Given the description of an element on the screen output the (x, y) to click on. 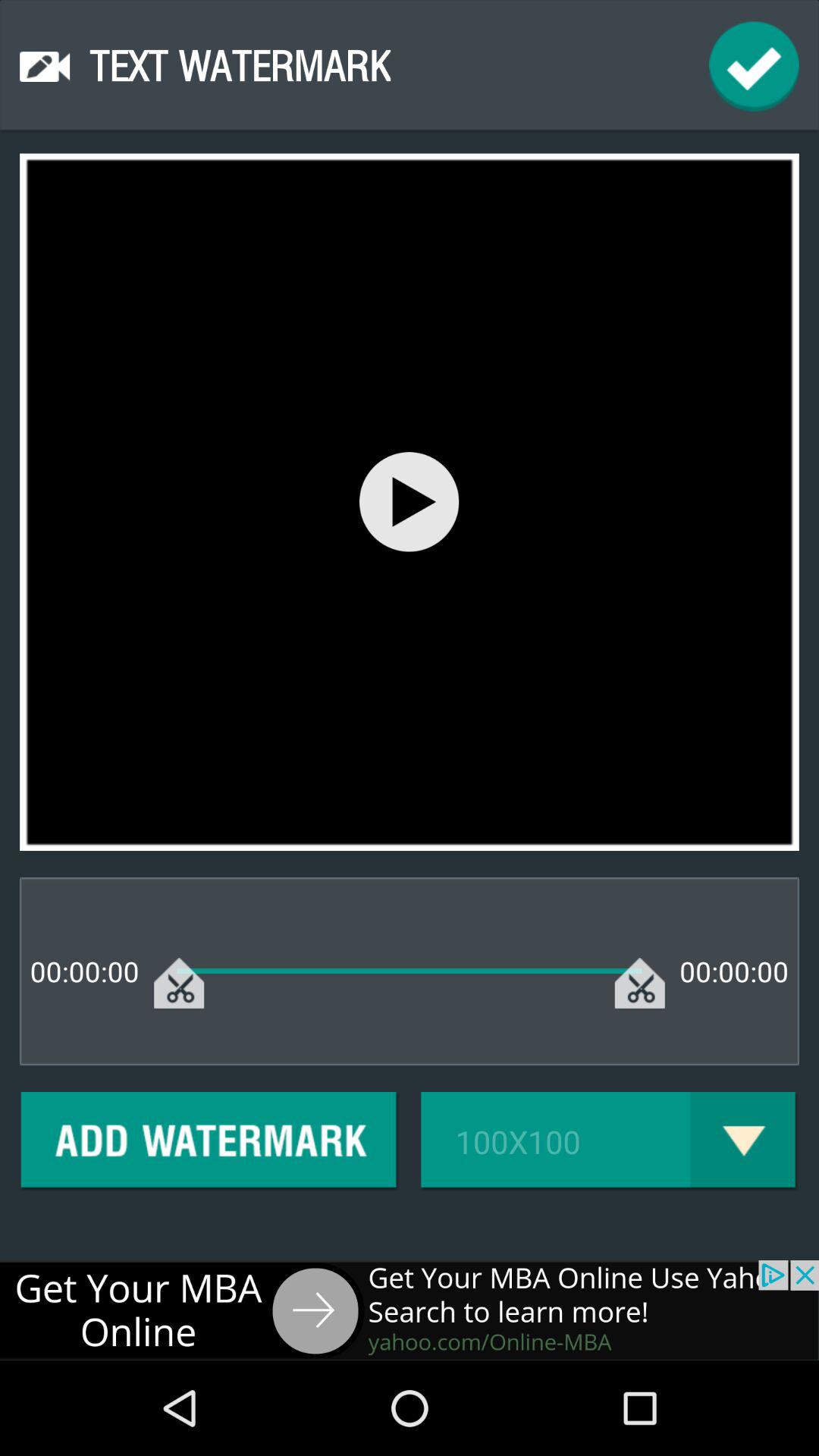
go to advertisements website (409, 1309)
